Given the description of an element on the screen output the (x, y) to click on. 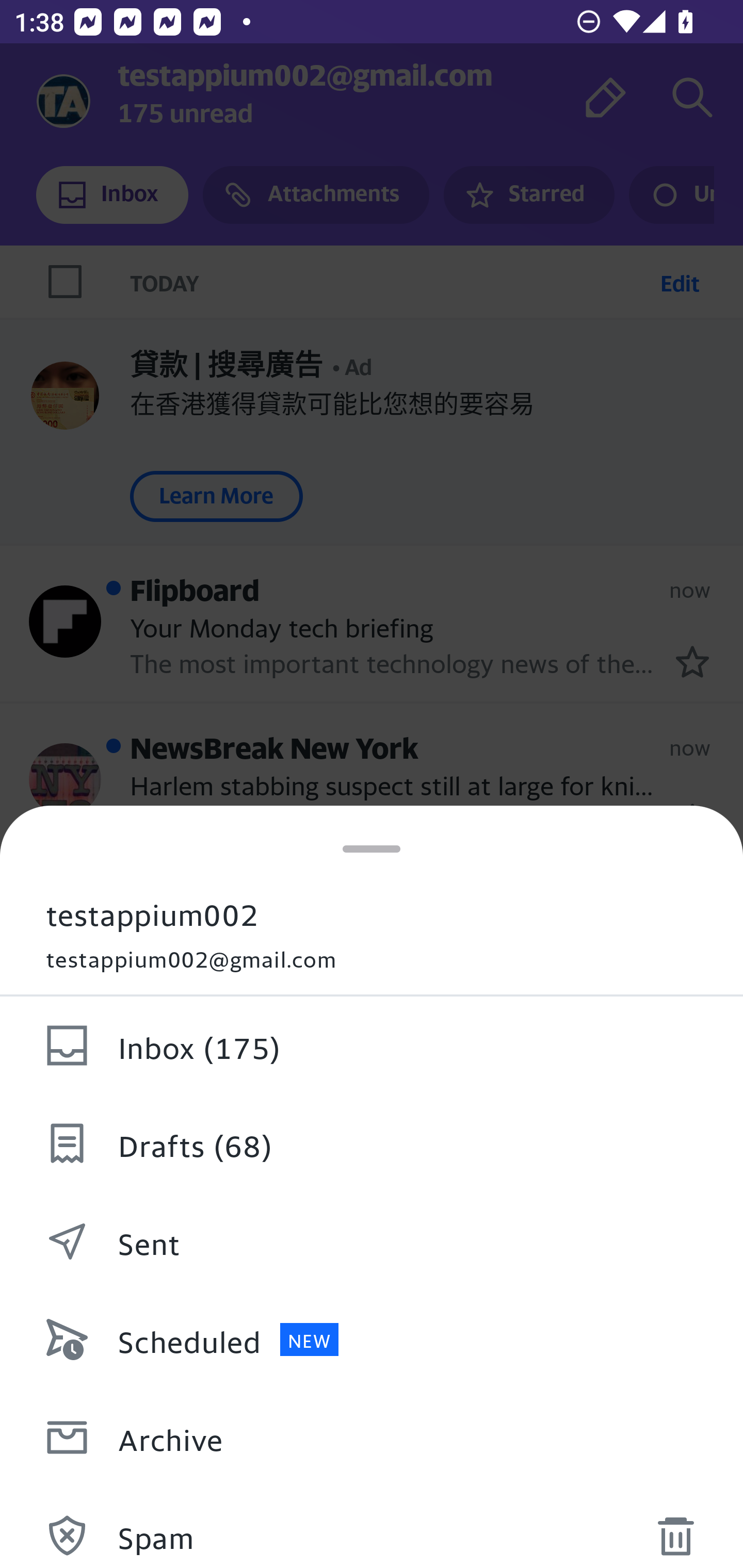
Inbox (175) (371, 1045)
Drafts (68) (371, 1143)
Sent (371, 1241)
Scheduled NEW (371, 1339)
Archive (371, 1437)
Spam Delete spam (371, 1527)
Delete spam (675, 1530)
